Given the description of an element on the screen output the (x, y) to click on. 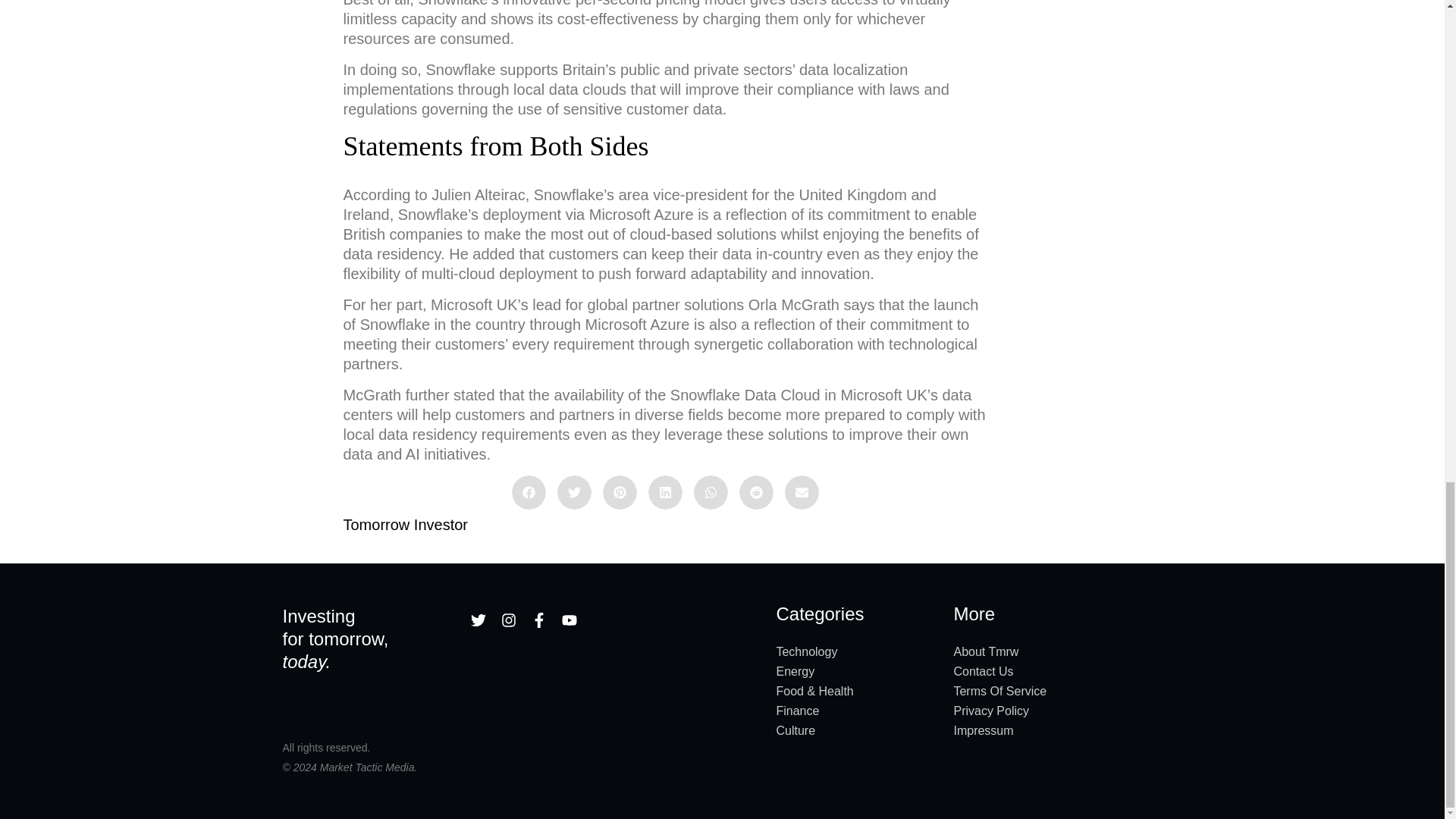
Energy (856, 671)
Culture (856, 731)
Finance (856, 711)
Terms Of Service (1057, 691)
About Tmrw (1057, 651)
Contact Us (1057, 671)
Technology (856, 651)
Privacy Policy (1057, 711)
Impressum (1057, 731)
